Given the description of an element on the screen output the (x, y) to click on. 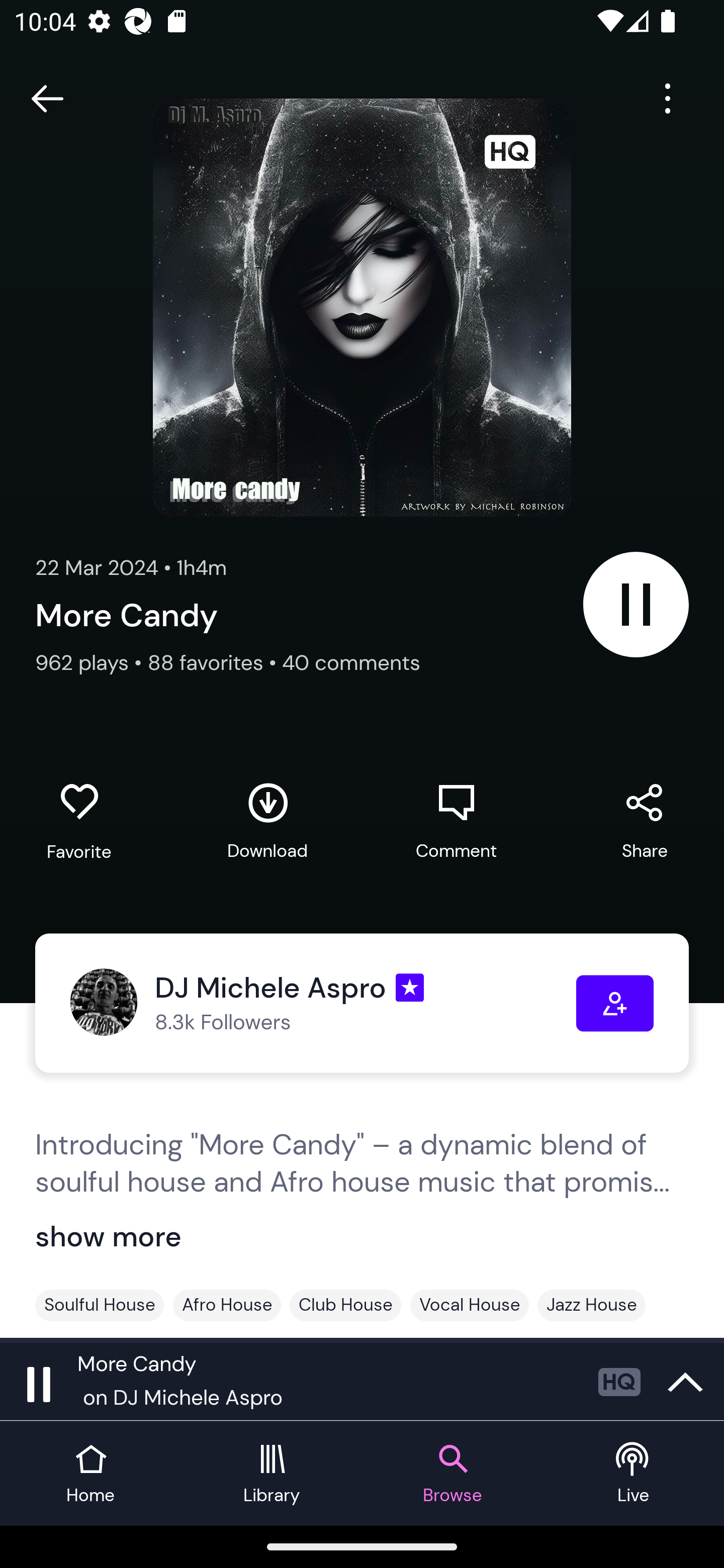
88 favorites •  (214, 662)
40 comments (351, 662)
Favorite (79, 821)
Download (267, 821)
Comment (455, 821)
Share (644, 821)
Follow (614, 1003)
Soulful House (99, 1304)
Afro House (226, 1304)
Club House (345, 1304)
Vocal House (469, 1304)
Jazz House (591, 1304)
Home tab Home (90, 1473)
Library tab Library (271, 1473)
Browse tab Browse (452, 1473)
Live tab Live (633, 1473)
